Given the description of an element on the screen output the (x, y) to click on. 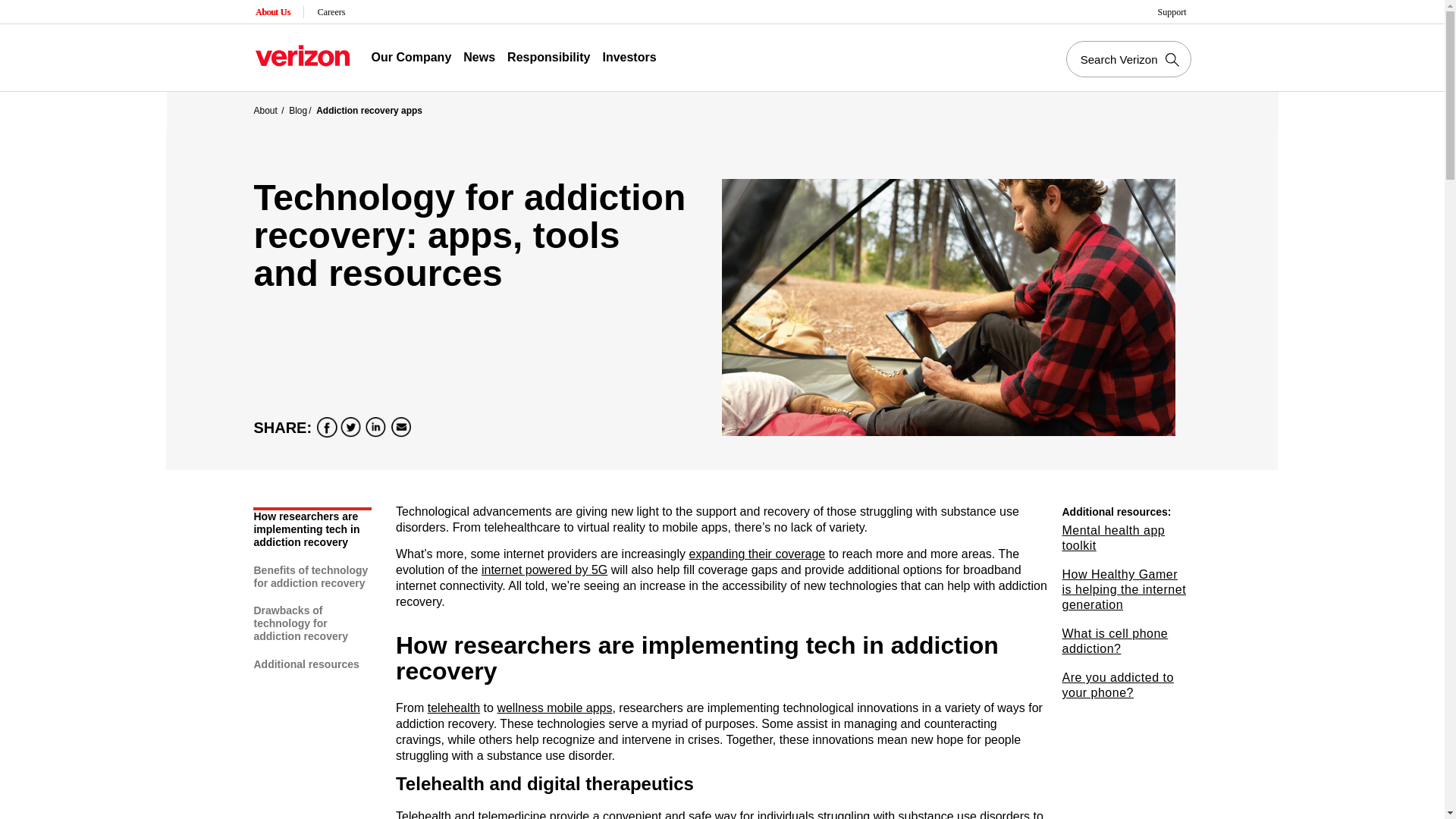
Our Company (411, 57)
About Us (272, 12)
Support (1173, 12)
About Verizon (301, 55)
Careers (332, 12)
